Given the description of an element on the screen output the (x, y) to click on. 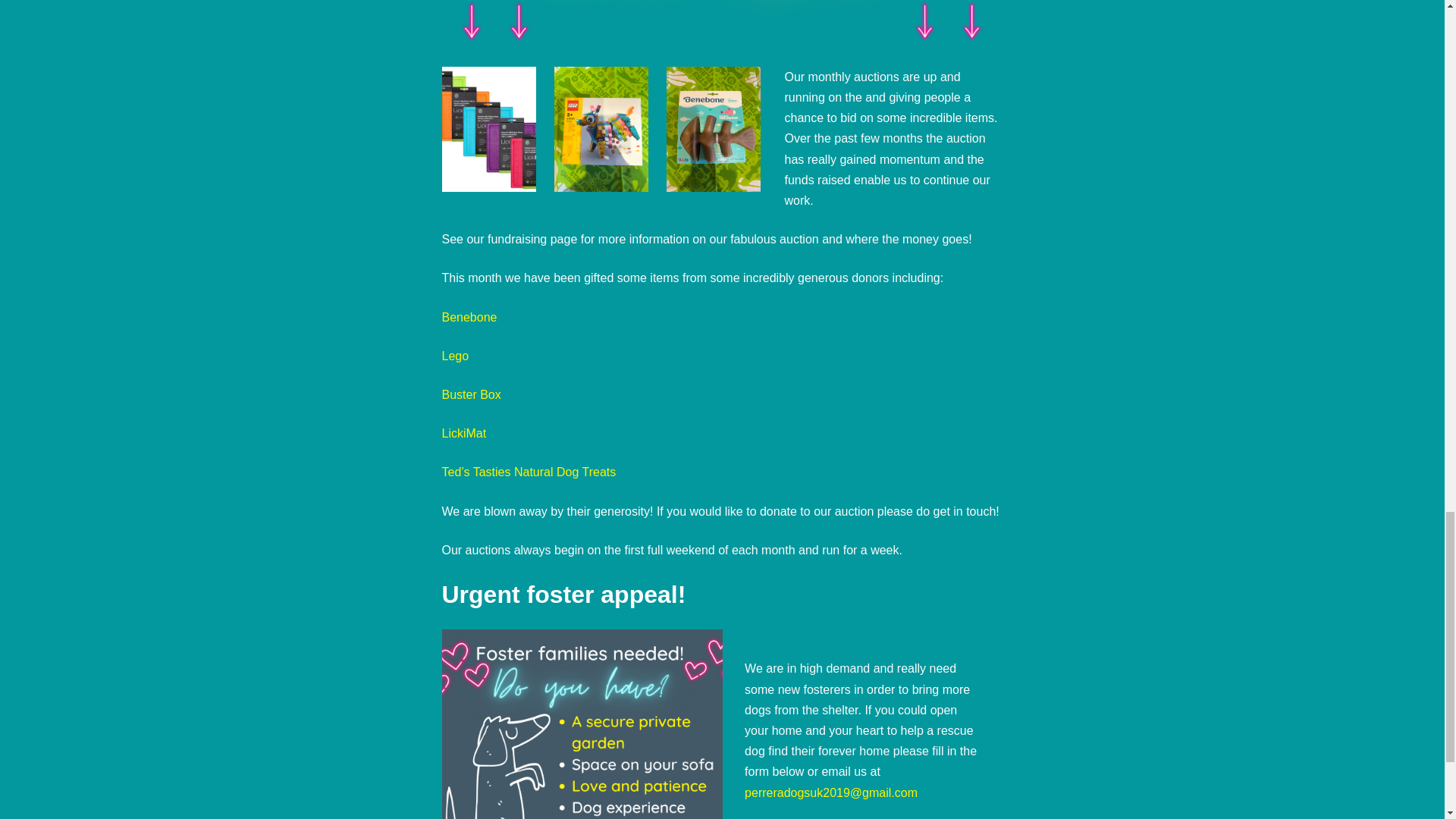
LickiMat (463, 432)
Lego (454, 355)
Benebone (468, 317)
Buster Box (470, 394)
